Given the description of an element on the screen output the (x, y) to click on. 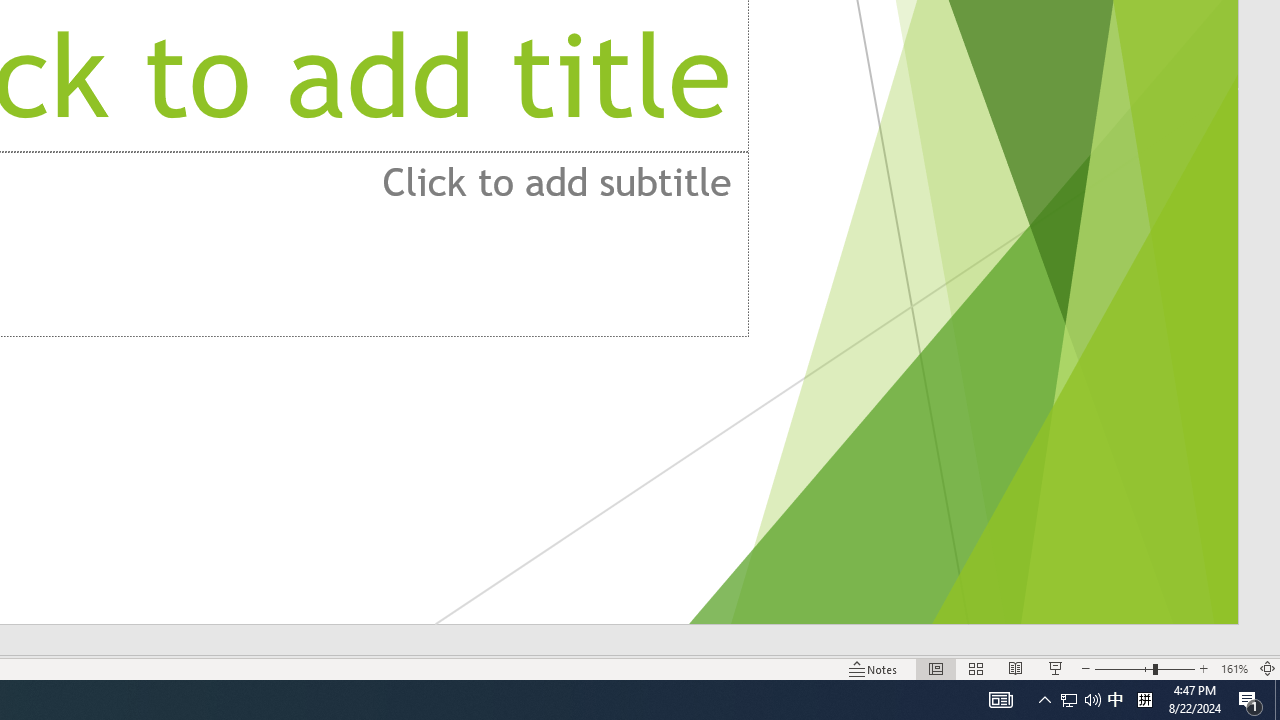
Slide Sorter (975, 668)
Zoom Out (1123, 668)
Zoom In (1204, 668)
Slide Show (1055, 668)
Zoom to Fit  (1267, 668)
Notes  (874, 668)
Zoom (1144, 668)
Zoom 161% (1234, 668)
Normal (936, 668)
Reading View (1015, 668)
